Given the description of an element on the screen output the (x, y) to click on. 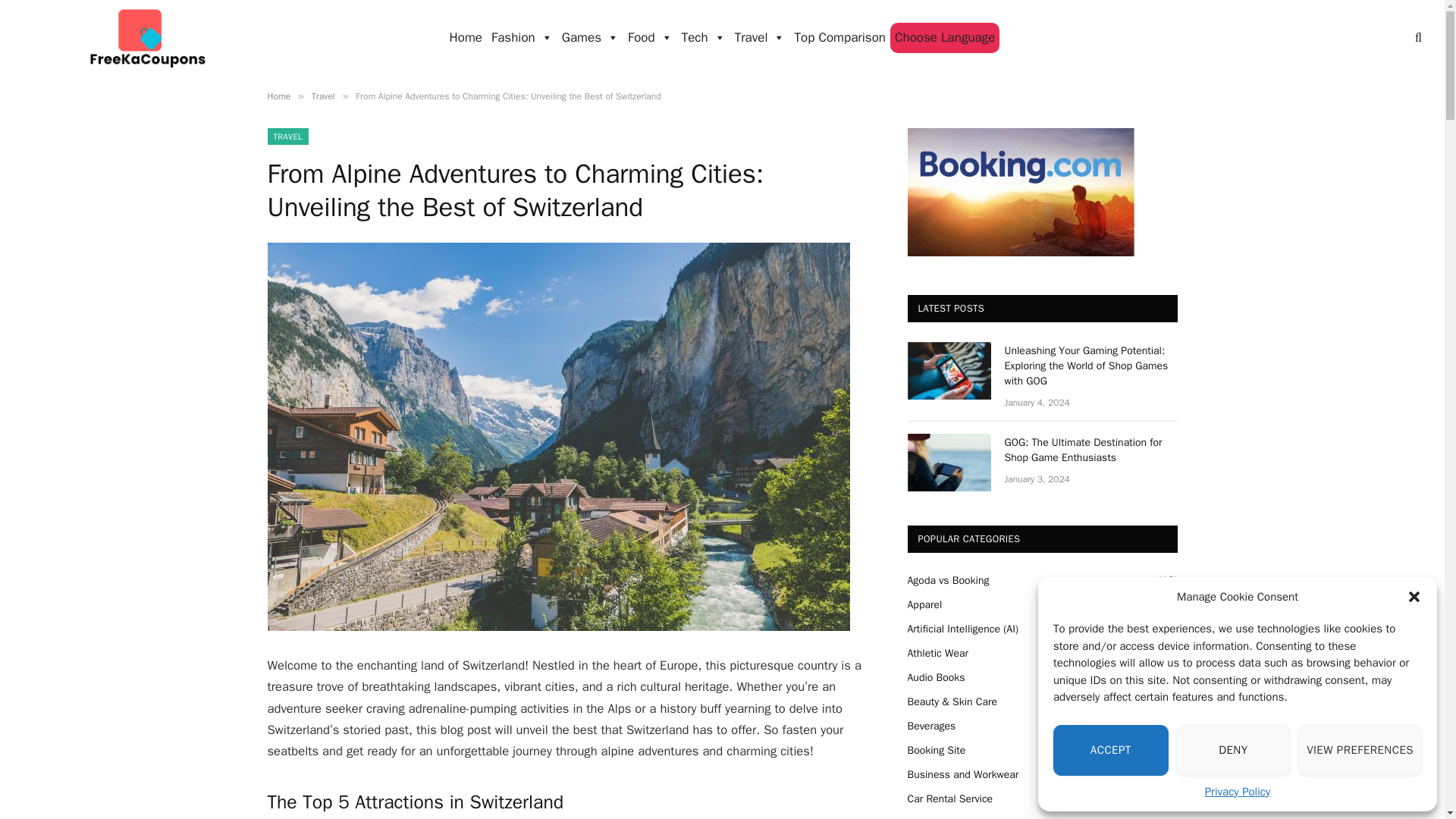
Privacy Policy (1238, 791)
GOG: The Ultimate Destination for Shop Game Enthusiasts (948, 462)
Games (590, 37)
DENY (1233, 749)
Home (465, 37)
Food (650, 37)
VIEW PREFERENCES (1360, 749)
ACCEPT (1110, 749)
